Given the description of an element on the screen output the (x, y) to click on. 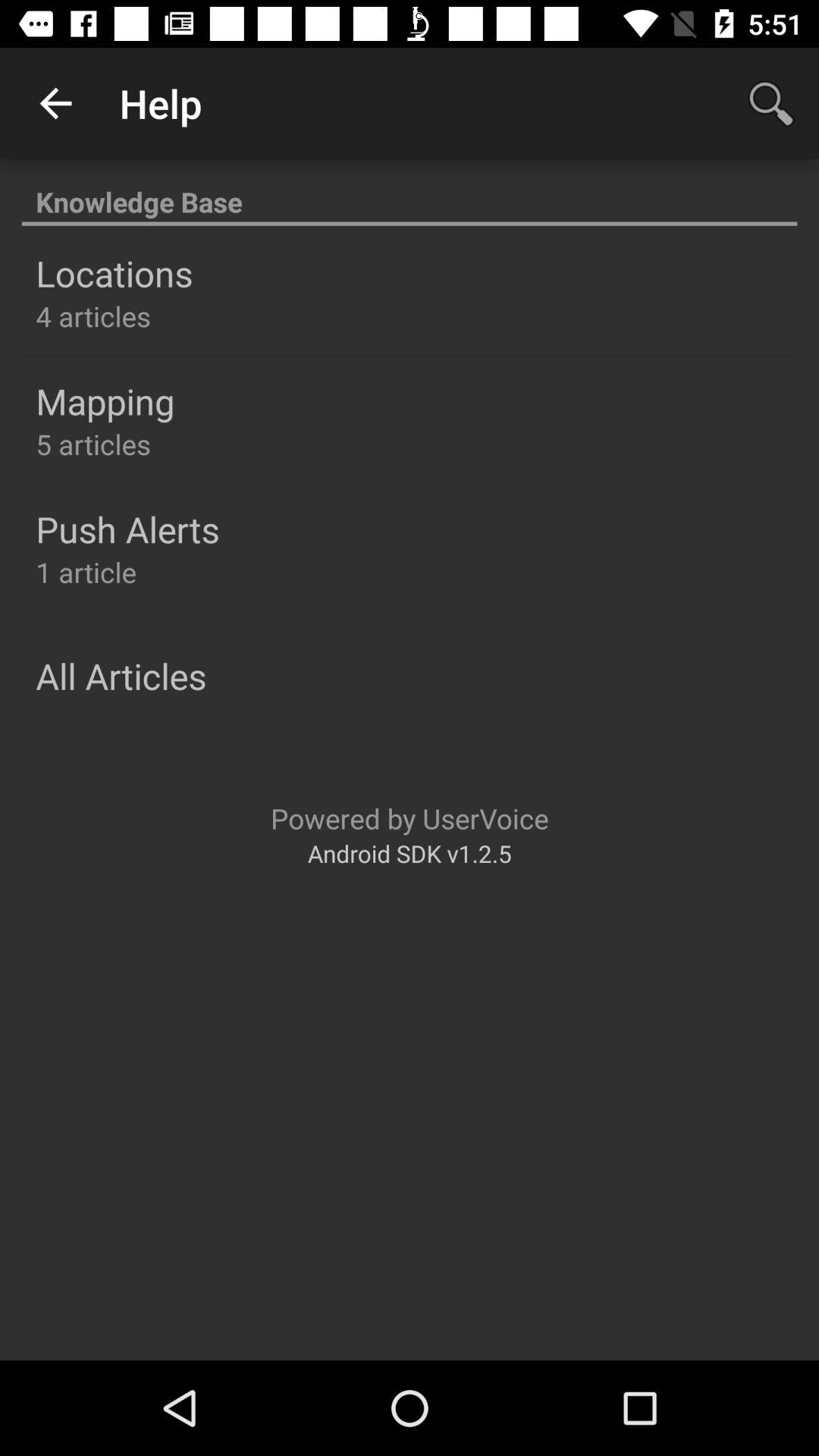
scroll until the mapping item (104, 401)
